Given the description of an element on the screen output the (x, y) to click on. 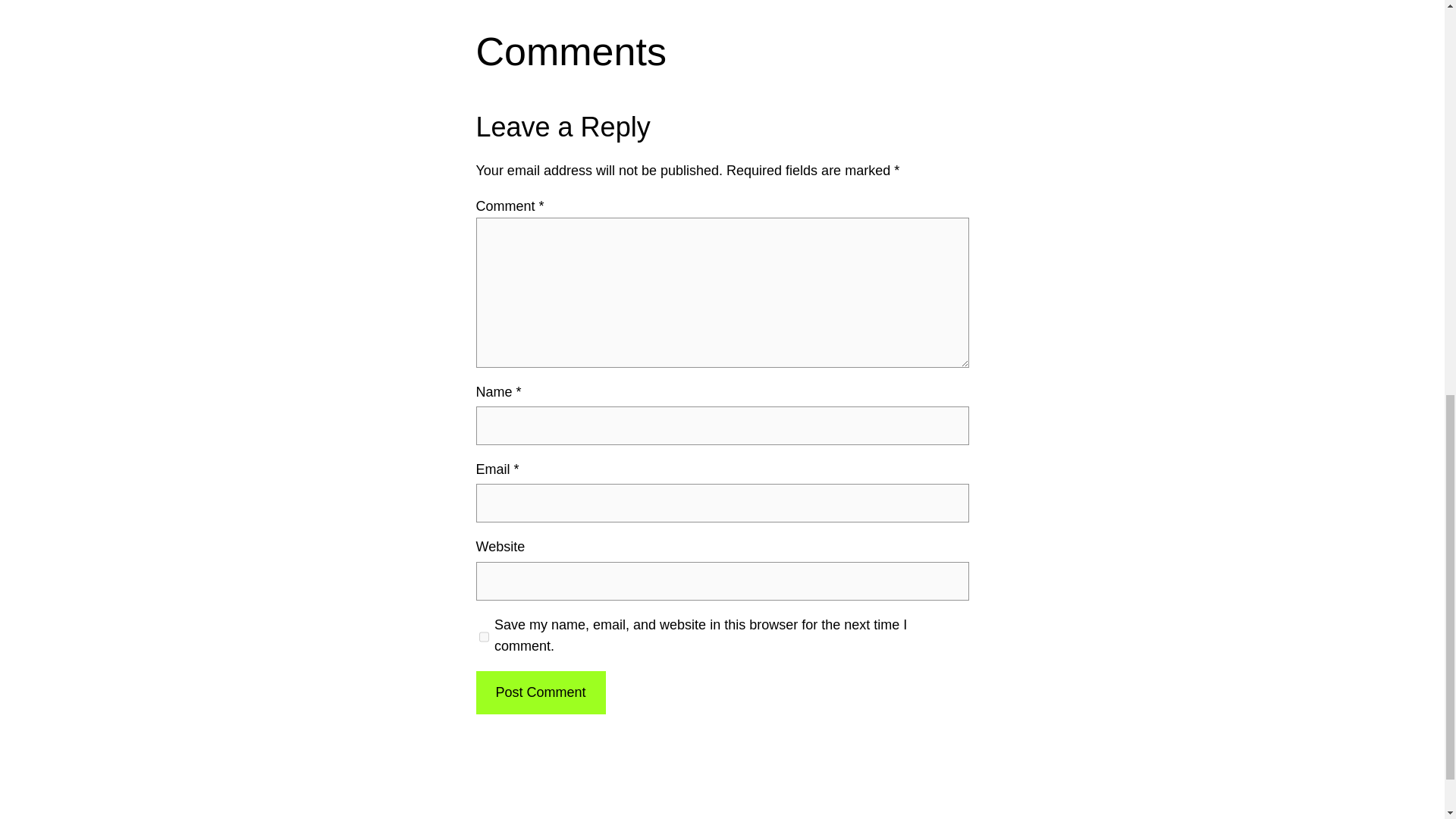
Post Comment (540, 692)
Post Comment (540, 692)
